Given the description of an element on the screen output the (x, y) to click on. 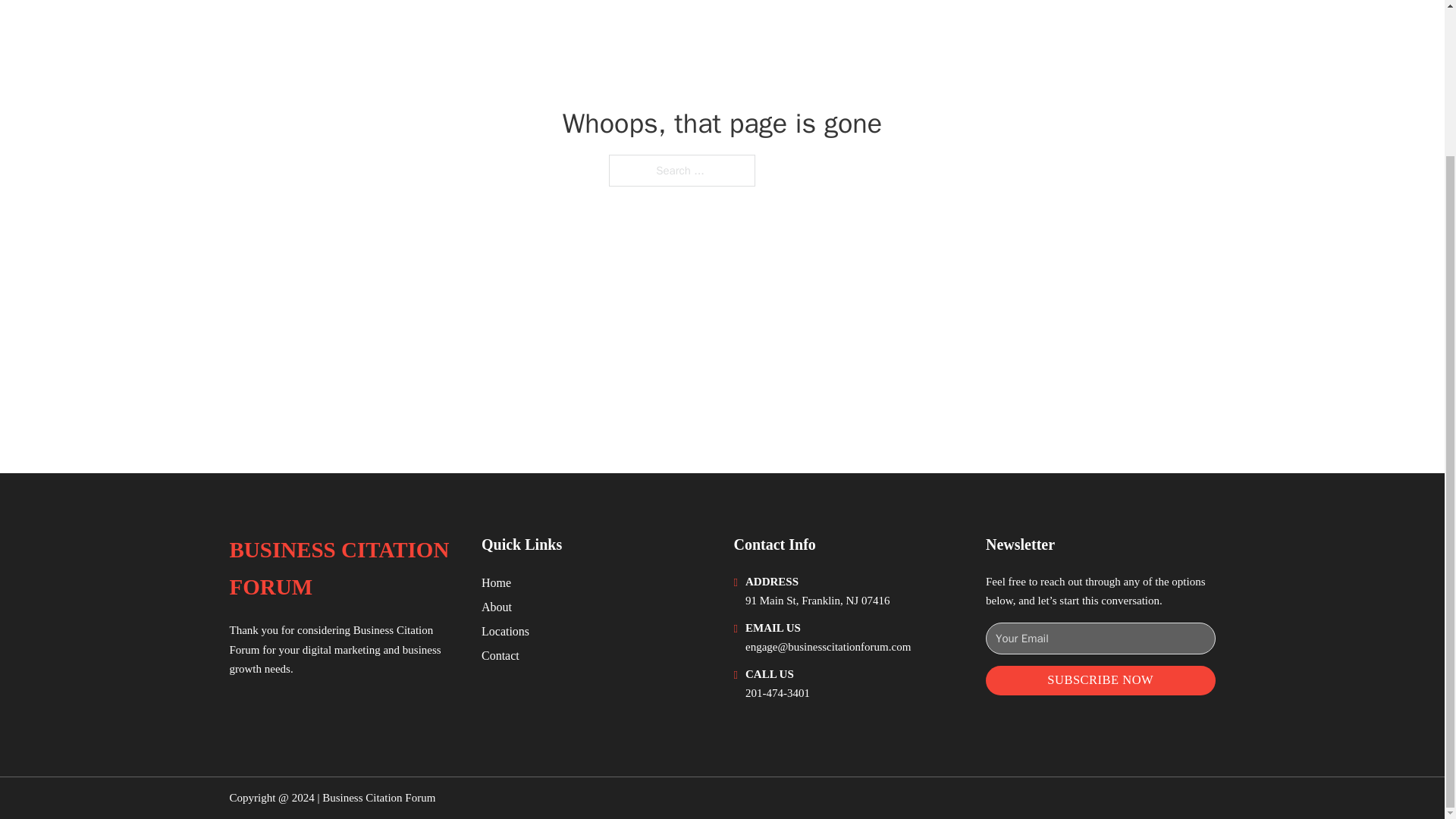
BUSINESS CITATION FORUM (343, 568)
Home (496, 582)
201-474-3401 (777, 693)
Contact (500, 655)
Locations (505, 630)
SUBSCRIBE NOW (1100, 680)
About (496, 607)
